Given the description of an element on the screen output the (x, y) to click on. 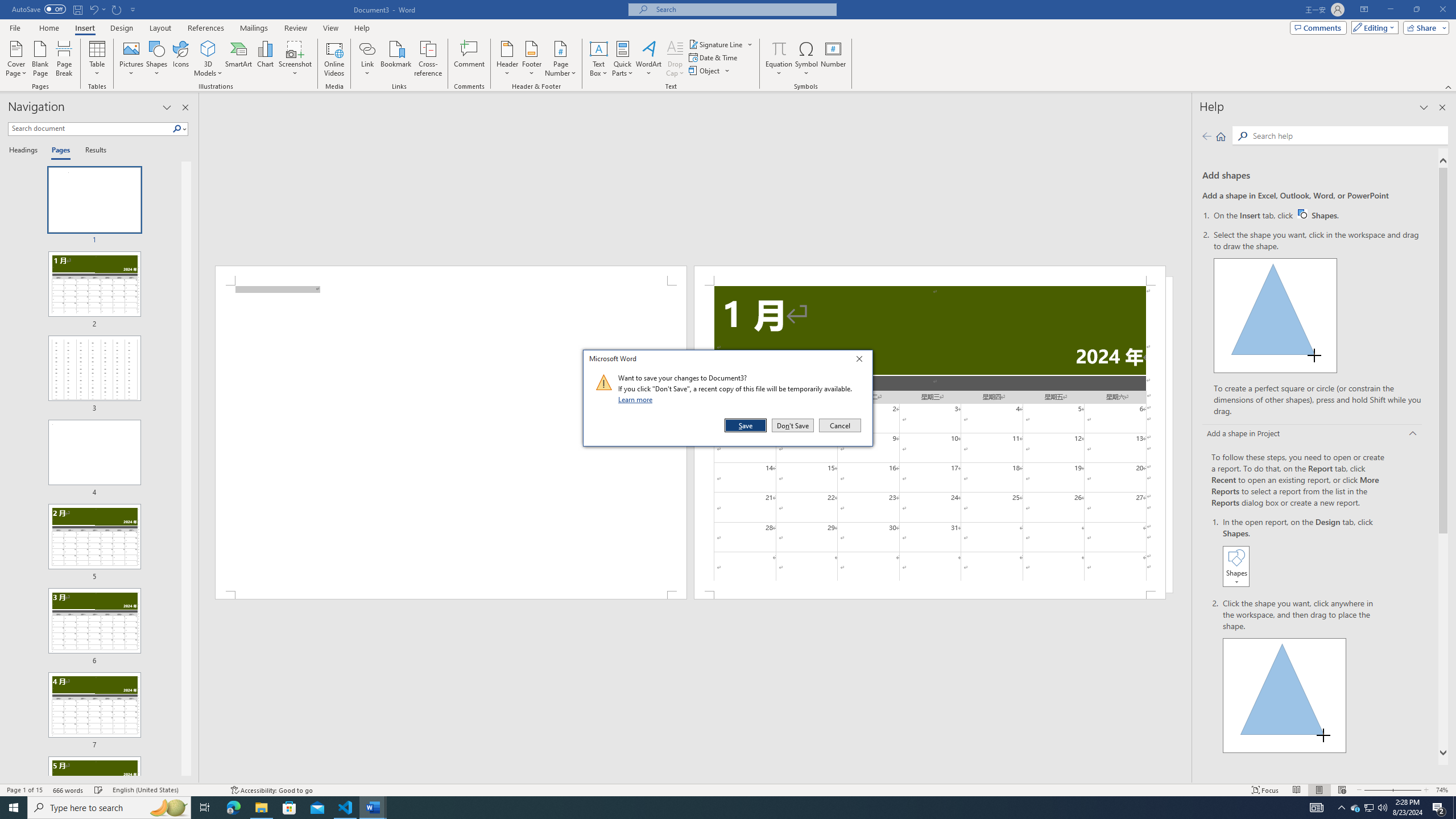
3D Models (208, 48)
Screenshot (295, 58)
Icons (180, 58)
3D Models (208, 58)
Notification Chevron (1341, 807)
Signature Line (716, 44)
Footer -Section 1- (930, 595)
Previous page (1206, 136)
Link (367, 58)
